Given the description of an element on the screen output the (x, y) to click on. 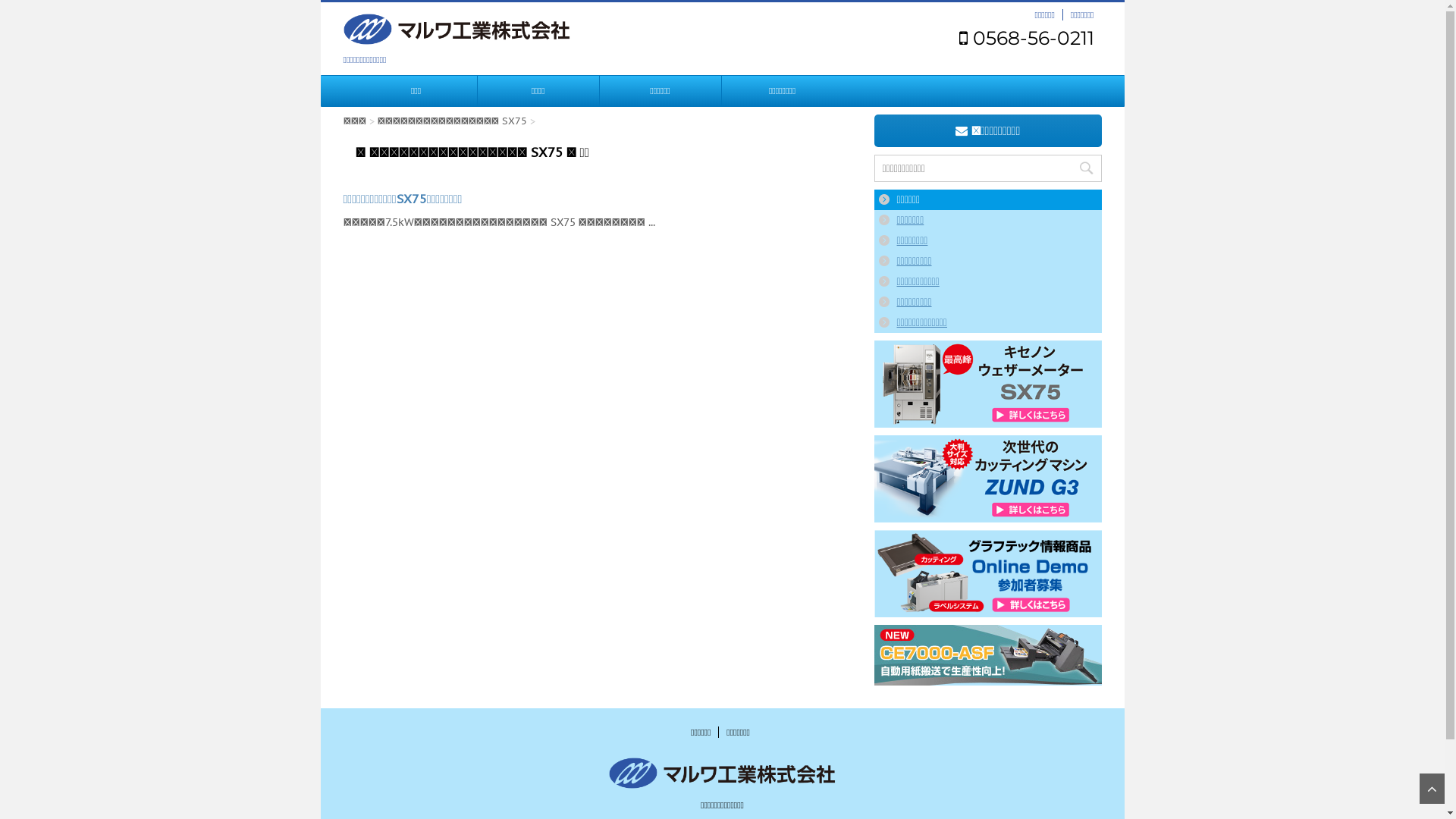
 0568-56-0211 Element type: text (1025, 37)
